Given the description of an element on the screen output the (x, y) to click on. 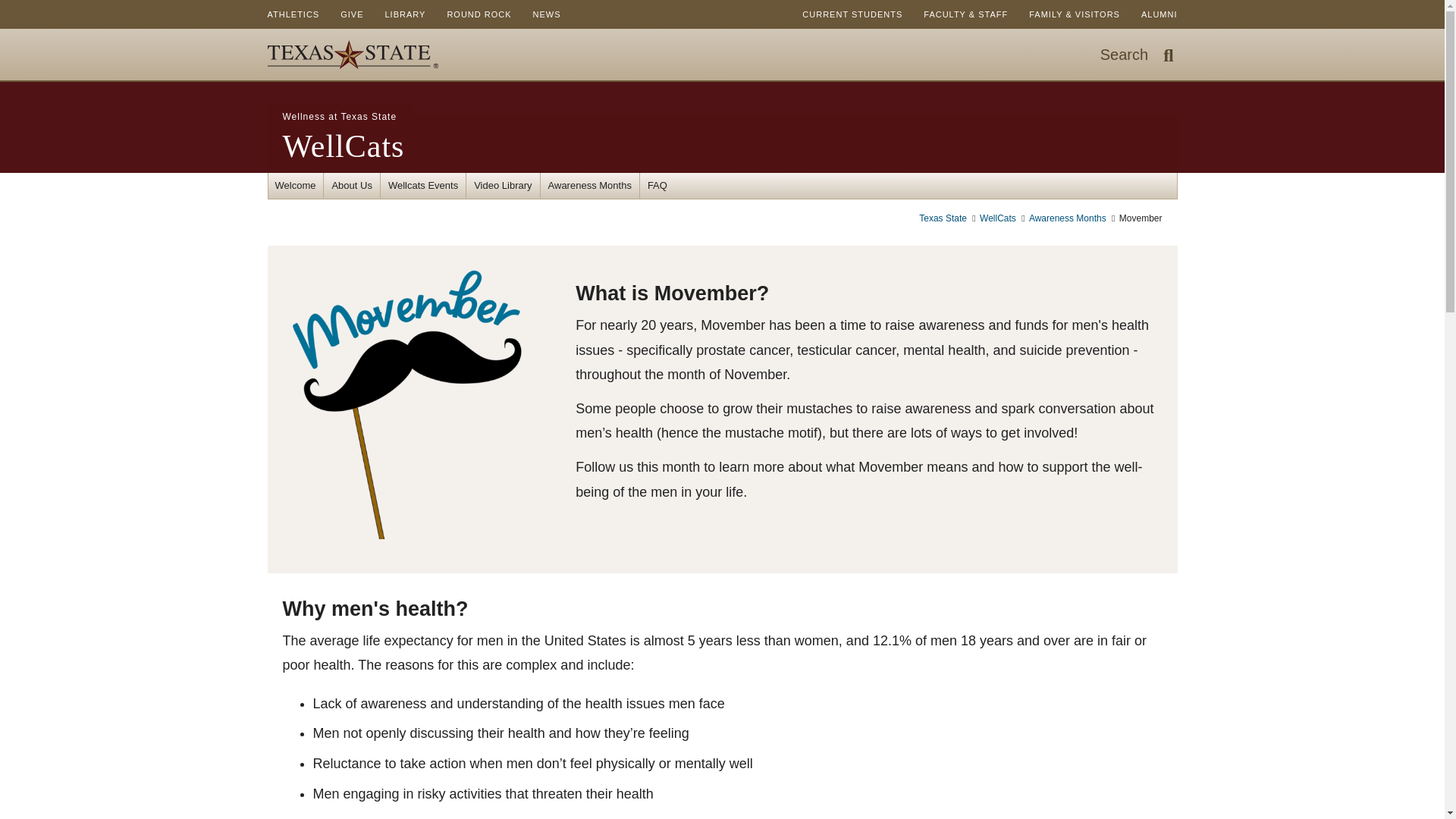
ATHLETICS (1136, 53)
WellCats (293, 14)
ALUMNI (343, 145)
ROUND ROCK (1159, 14)
GIVE (478, 14)
LIBRARY (352, 14)
NEWS (405, 14)
Wellness at Texas State (547, 14)
CURRENT STUDENTS (339, 116)
